Given the description of an element on the screen output the (x, y) to click on. 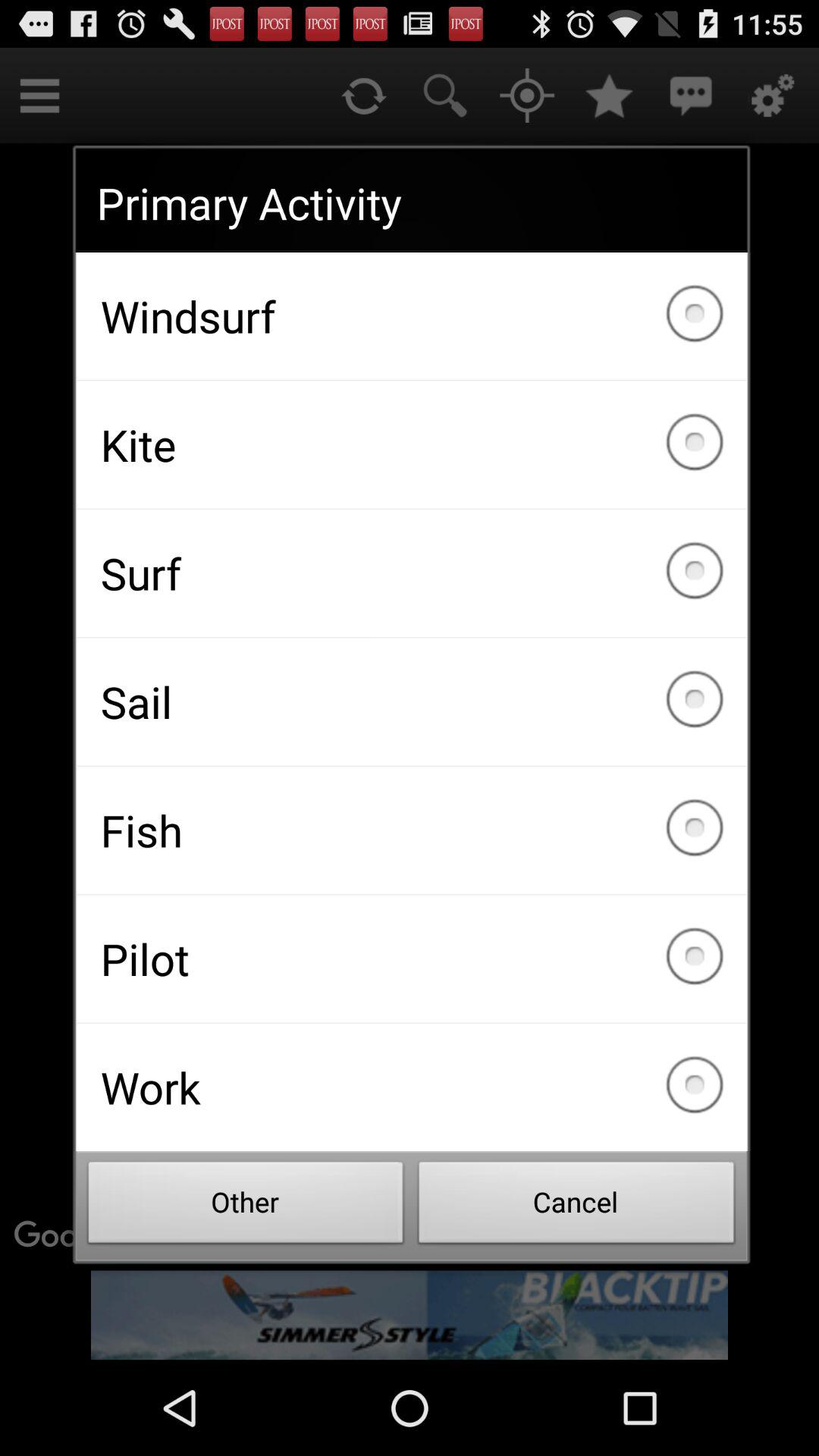
turn on the item at the bottom left corner (245, 1206)
